Given the description of an element on the screen output the (x, y) to click on. 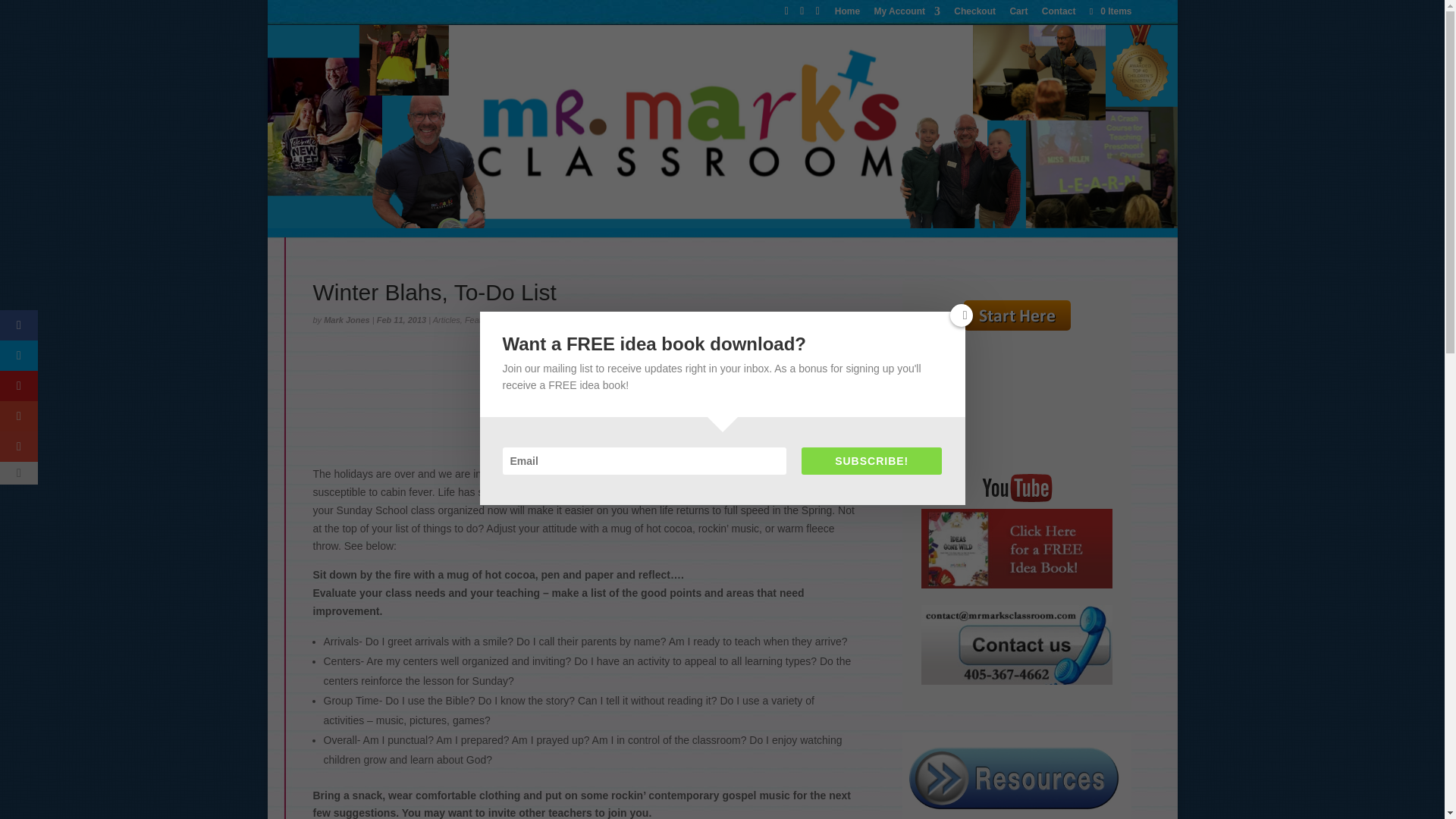
Contact (1058, 14)
Home (847, 14)
Articles (446, 319)
Cart (1018, 14)
Checkout (974, 14)
Mark Jones (346, 319)
Featured (480, 319)
Posts by Mark Jones (346, 319)
0 Items (1108, 10)
winter (585, 398)
1 comment (526, 319)
My Account (906, 14)
